Given the description of an element on the screen output the (x, y) to click on. 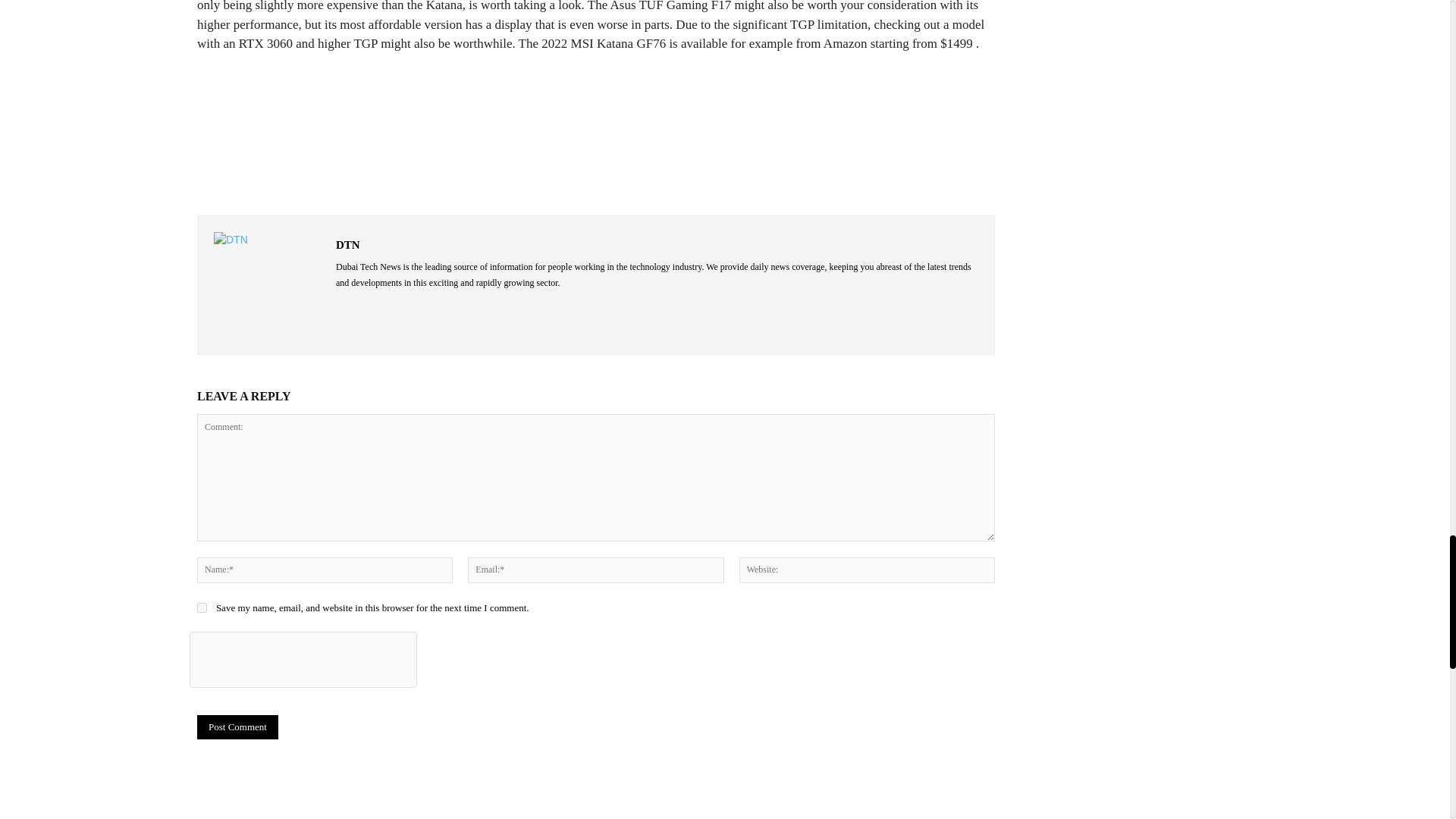
yes (201, 607)
Post Comment (237, 726)
